Given the description of an element on the screen output the (x, y) to click on. 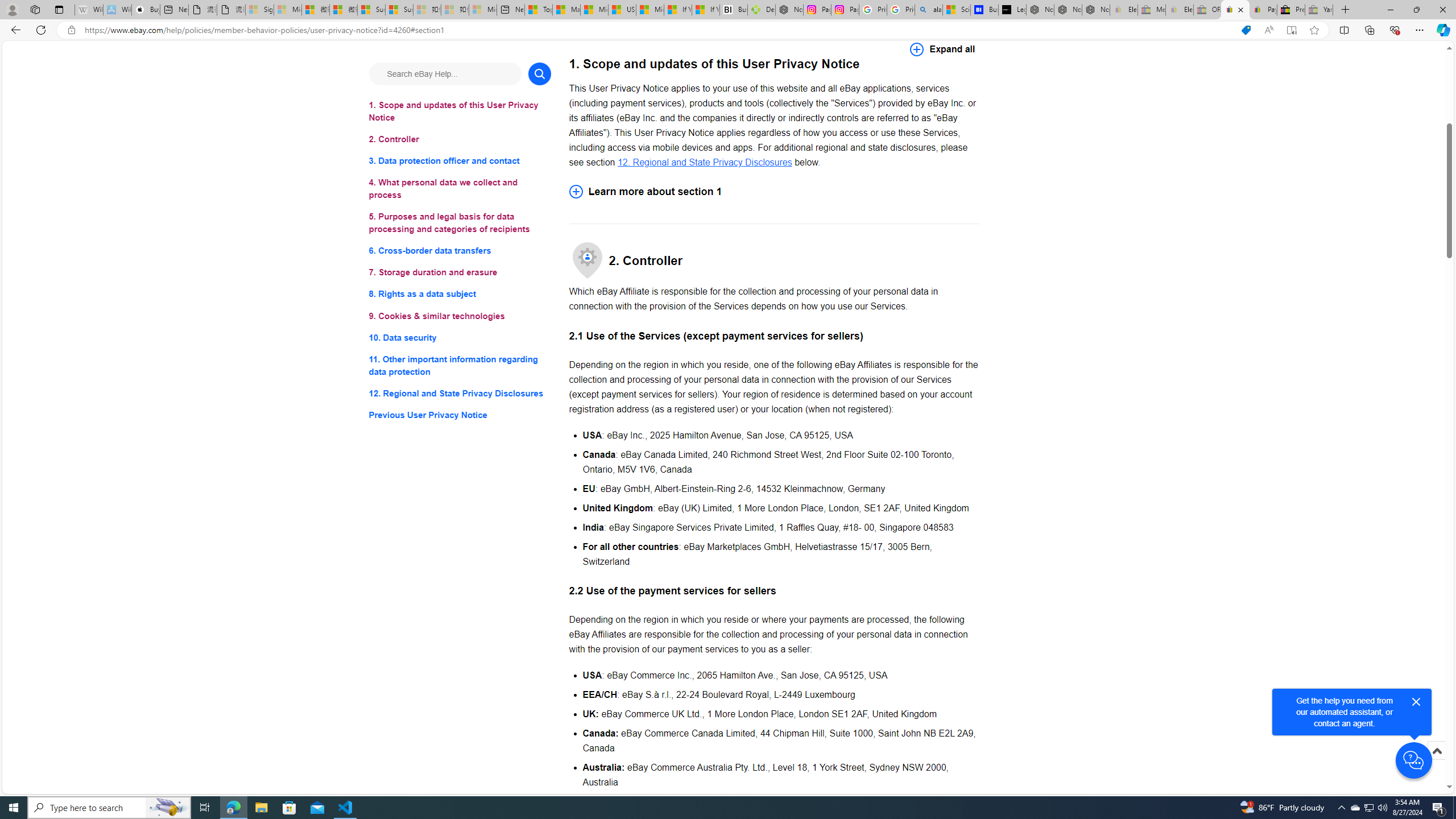
11. Other important information regarding data protection (459, 365)
Press Room - eBay Inc. (1291, 9)
Descarga Driver Updater (761, 9)
11. Other important information regarding data protection (459, 365)
Microsoft Services Agreement - Sleeping (288, 9)
7. Storage duration and erasure (459, 272)
Search eBay Help... (444, 73)
Previous User Privacy Notice (459, 414)
8. Rights as a data subject (459, 293)
2. Controller (459, 138)
